Given the description of an element on the screen output the (x, y) to click on. 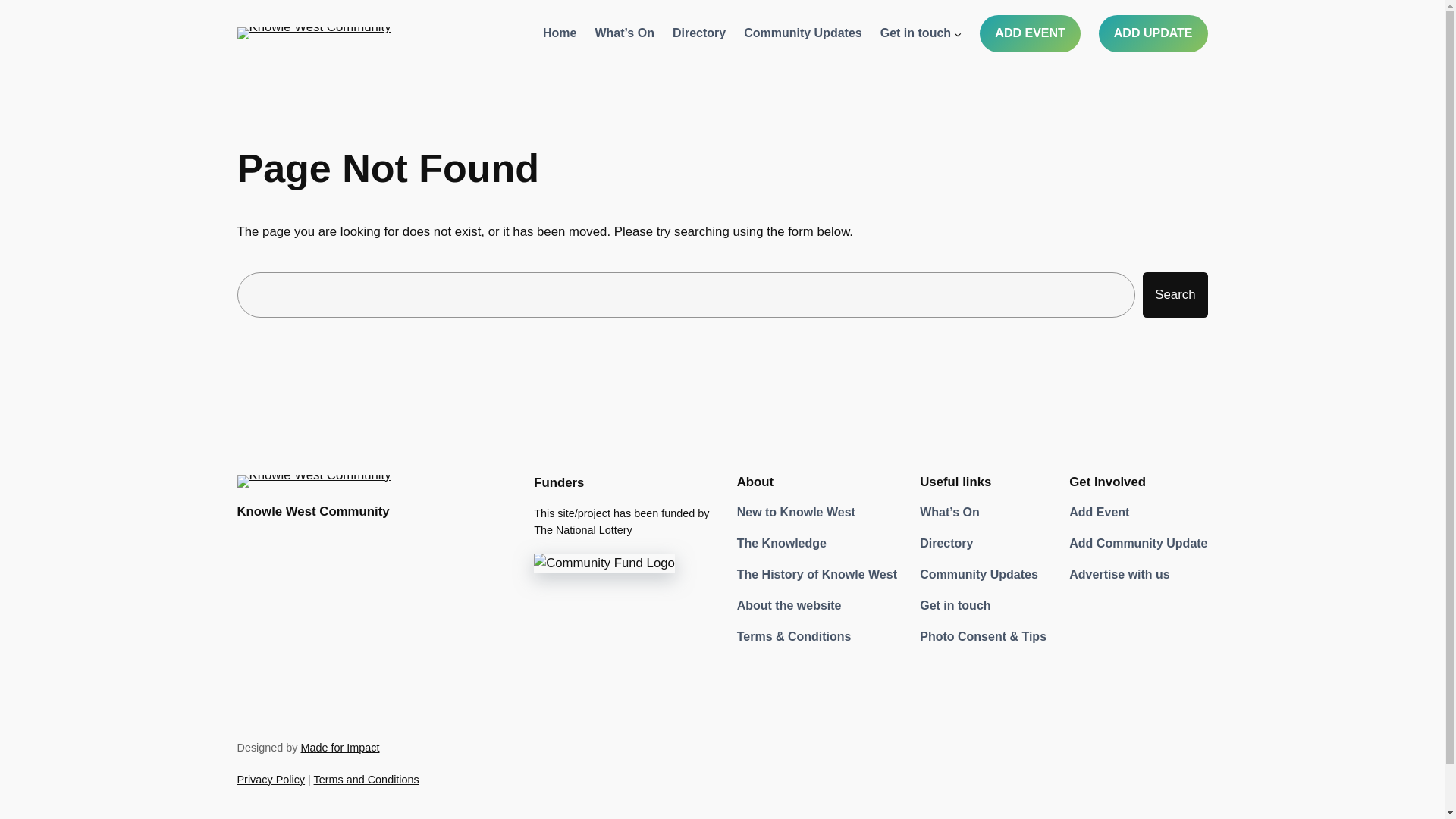
Search (1174, 294)
Community Updates (802, 33)
Community Updates (979, 574)
The History of Knowle West (816, 574)
Advertise with us (1118, 574)
Add Event (1098, 512)
Directory (946, 543)
Privacy Policy (269, 779)
About the website (788, 606)
Add Community Update (1137, 543)
